Given the description of an element on the screen output the (x, y) to click on. 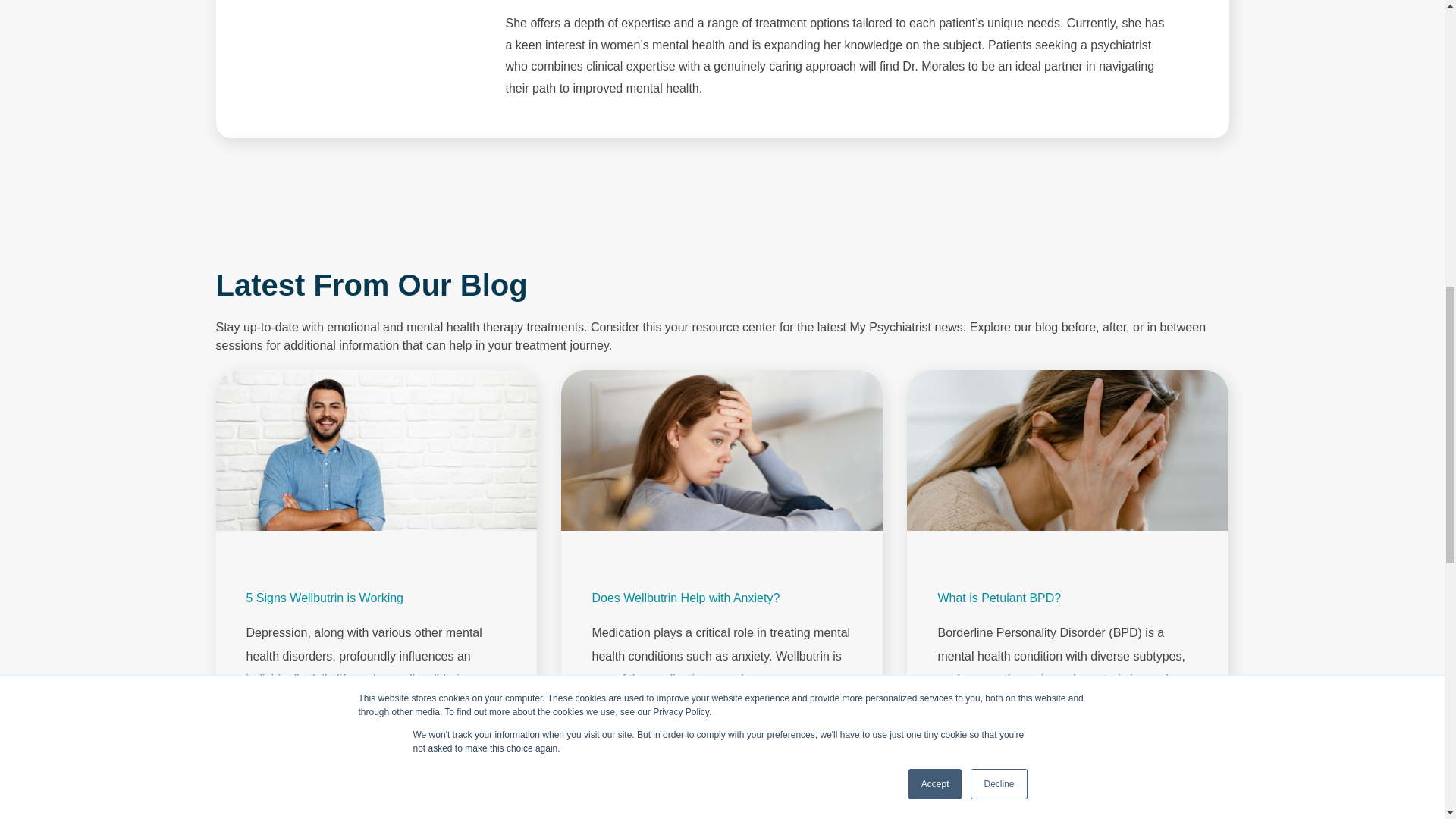
Read More (275, 723)
5 Signs Wellbutrin is Working (324, 597)
Does Wellbutrin Help with Anxiety? (684, 597)
Read More (620, 700)
